Given the description of an element on the screen output the (x, y) to click on. 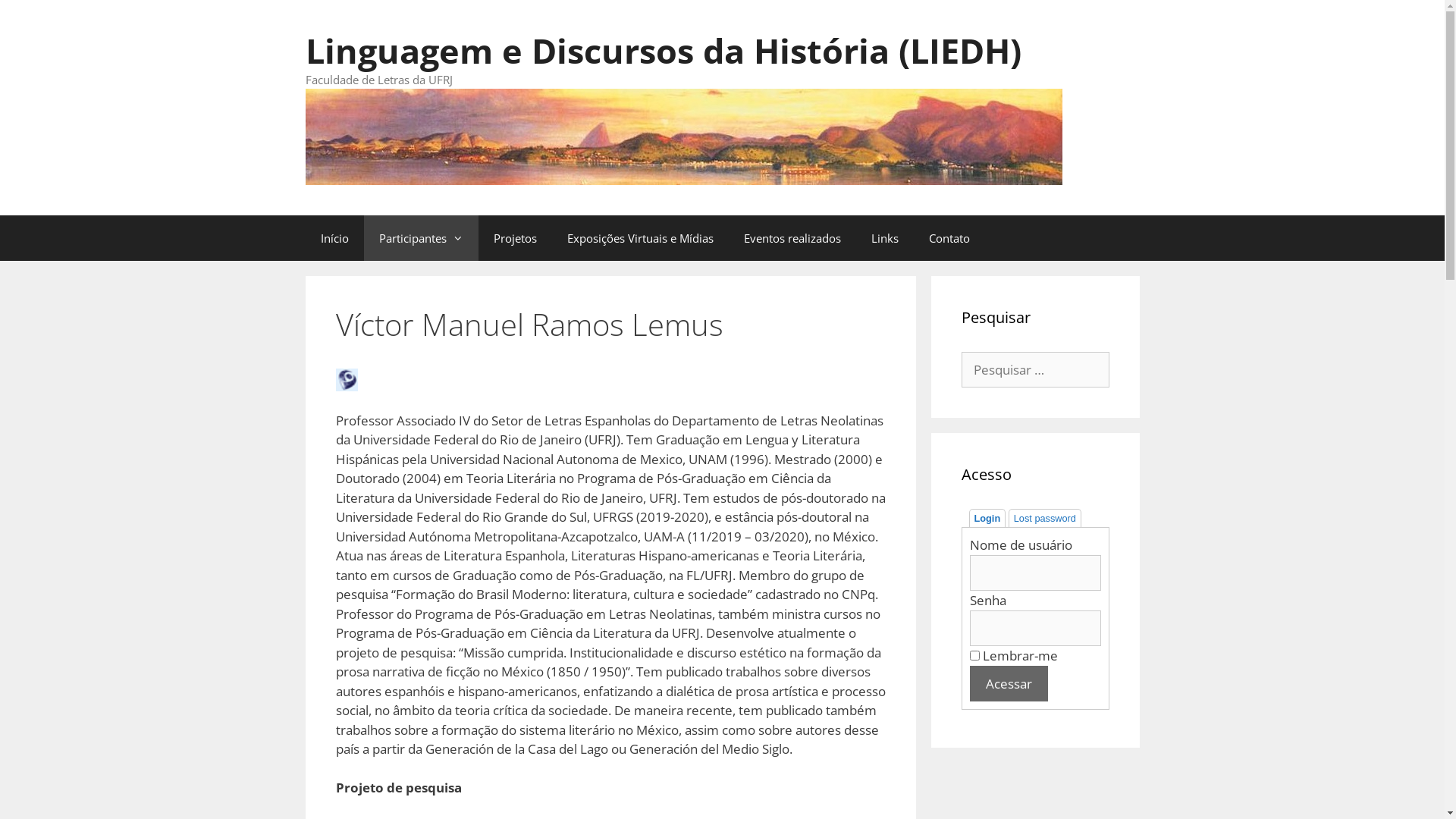
Projetos Element type: text (514, 237)
Lost password Element type: text (1044, 517)
Pesquisar Element type: text (44, 18)
Participantes Element type: text (421, 237)
Pesquisar por: Element type: hover (1035, 369)
Links Element type: text (884, 237)
Eventos realizados Element type: text (791, 237)
Contato Element type: text (948, 237)
Acessar Element type: text (1008, 683)
Login Element type: text (987, 517)
